Given the description of an element on the screen output the (x, y) to click on. 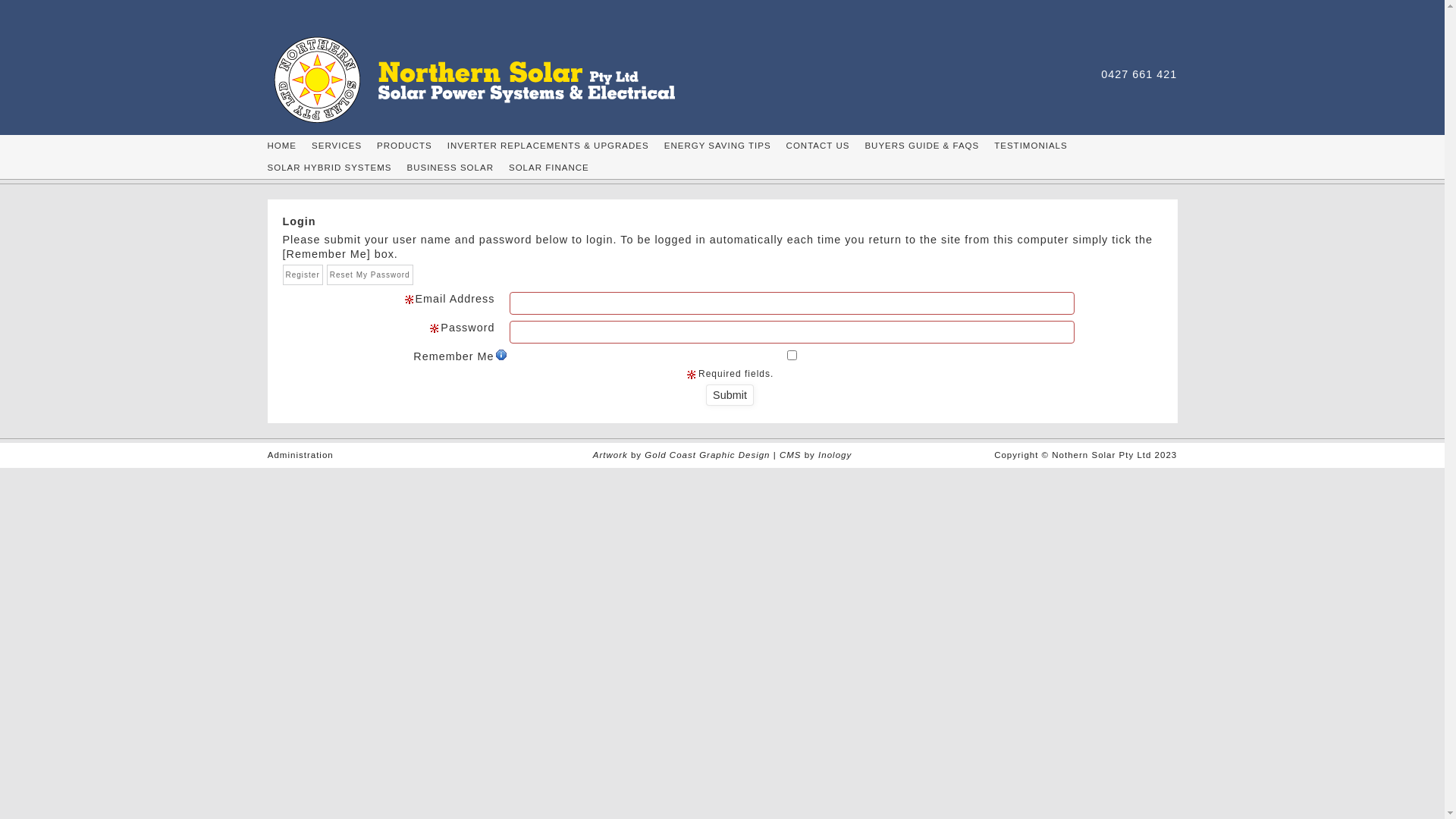
ENERGY SAVING TIPS Element type: text (717, 145)
CONTACT US Element type: text (818, 145)
BUYERS GUIDE & FAQS Element type: text (921, 145)
HOME Element type: text (281, 145)
SERVICES Element type: text (336, 145)
Register Element type: text (302, 274)
Nothern Solar Pty Ltd Element type: hover (490, 78)
Press submit to continue. Element type: hover (729, 393)
SOLAR HYBRID SYSTEMS Element type: text (328, 167)
TESTIMONIALS Element type: text (1030, 145)
CMS Element type: text (790, 454)
Inology Element type: text (834, 454)
Reset My Password Element type: text (369, 274)
SOLAR FINANCE Element type: text (548, 167)
Artwork Element type: text (611, 454)
Gold Coast Graphic Design Element type: text (706, 454)
Administration Element type: text (300, 455)
PRODUCTS Element type: text (404, 145)
INVERTER REPLACEMENTS & UPGRADES Element type: text (548, 145)
BUSINESS SOLAR Element type: text (449, 167)
Submit Element type: text (729, 393)
